Given the description of an element on the screen output the (x, y) to click on. 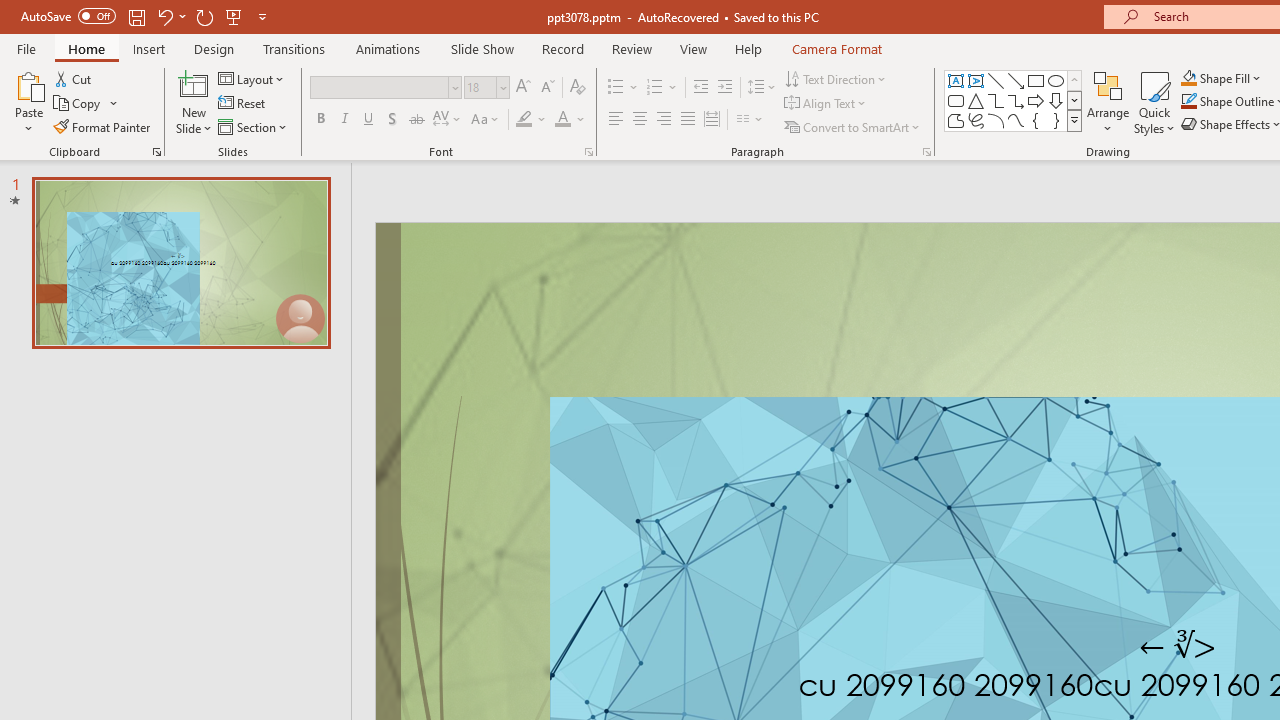
Arc (995, 120)
Character Spacing (447, 119)
Vertical Text Box (975, 80)
Font Color Red (562, 119)
Strikethrough (416, 119)
Connector: Elbow Arrow (1016, 100)
Bullets (616, 87)
Cut (73, 78)
Decrease Font Size (547, 87)
From Beginning (234, 15)
Increase Indent (725, 87)
Freeform: Scribble (975, 120)
Slide (180, 262)
